Given the description of an element on the screen output the (x, y) to click on. 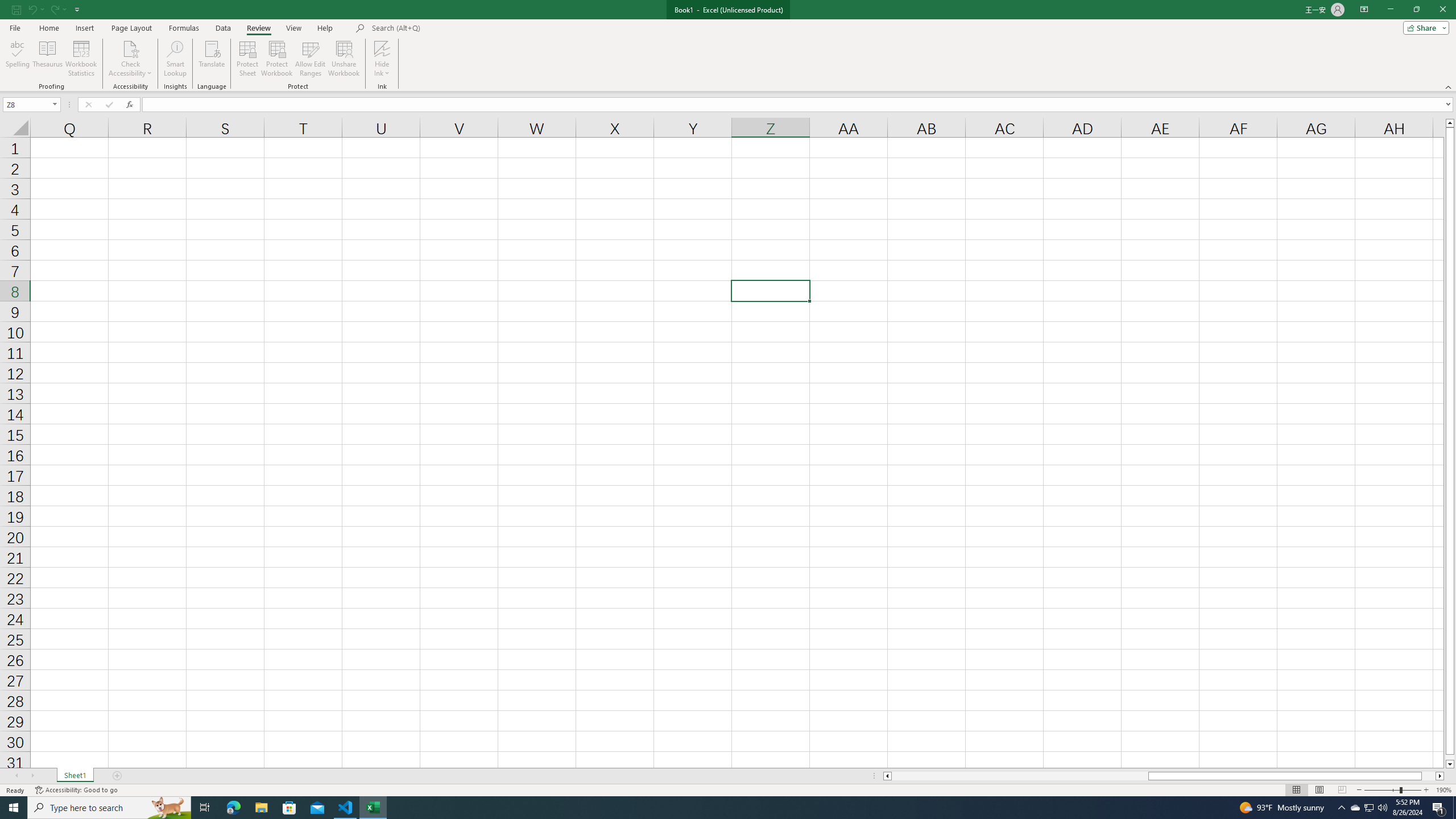
Unshare Workbook (344, 58)
Thesaurus... (47, 58)
Protect Sheet... (247, 58)
Spelling... (17, 58)
